Given the description of an element on the screen output the (x, y) to click on. 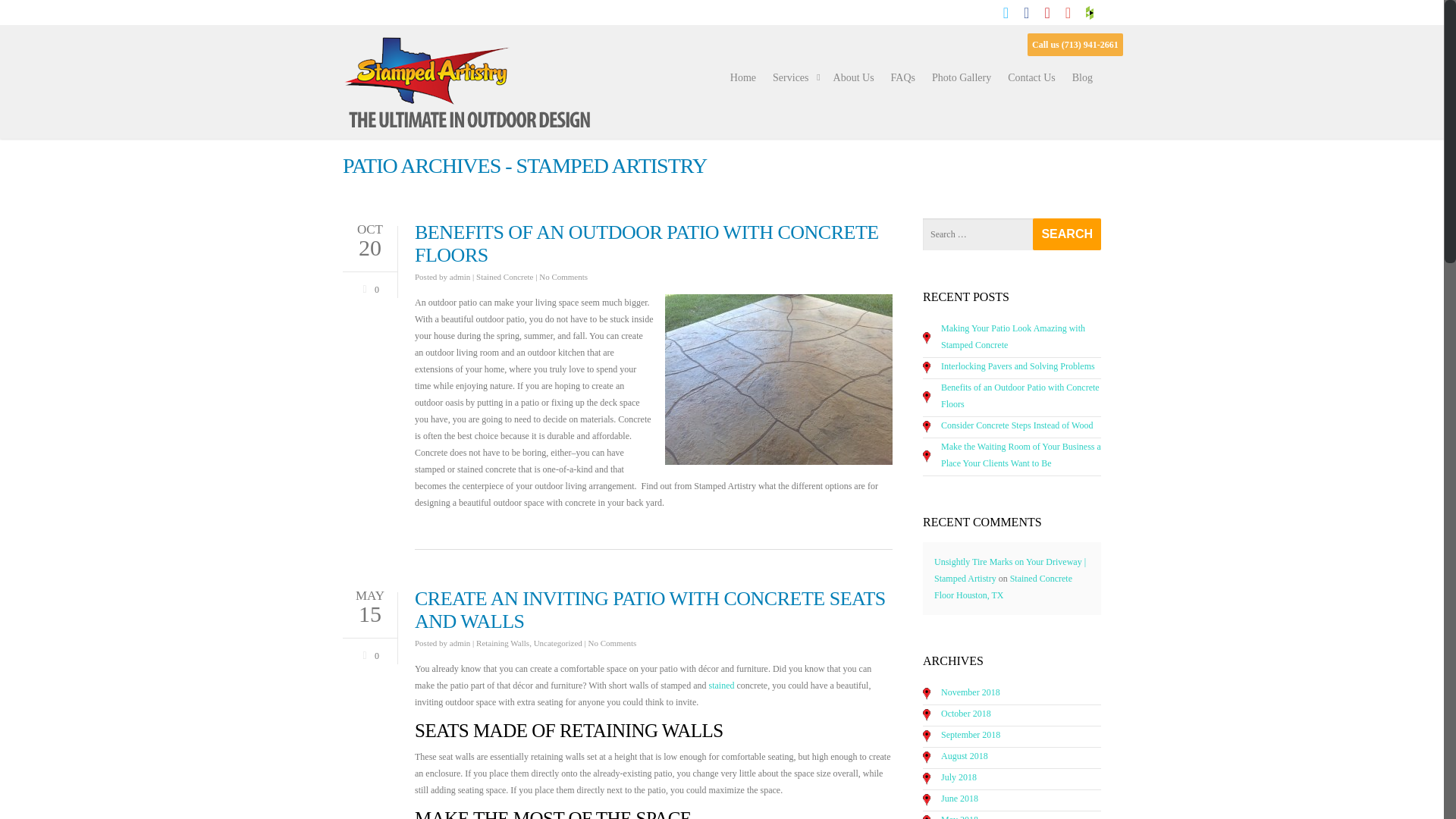
Services (794, 78)
Posts by admin (459, 642)
Home (742, 78)
Posts by admin (459, 276)
Search (1066, 234)
Blog (1082, 78)
About Us (853, 78)
FAQs (903, 78)
Photo Gallery (961, 78)
Contact Us (1031, 78)
